Given the description of an element on the screen output the (x, y) to click on. 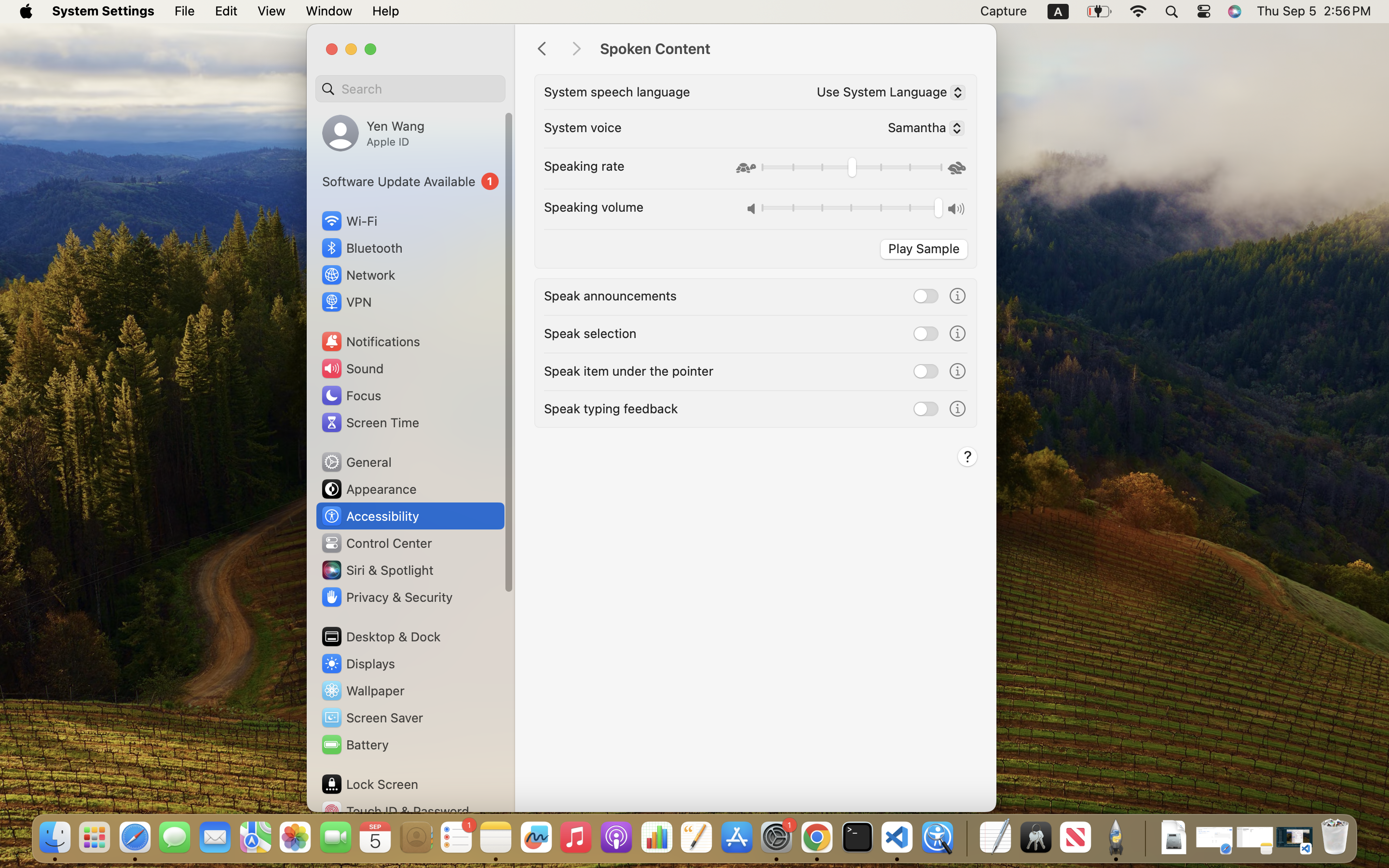
Displays Element type: AXStaticText (357, 663)
Desktop & Dock Element type: AXStaticText (380, 636)
Spoken Content Element type: AXStaticText (788, 49)
Accessibility Element type: AXStaticText (369, 515)
Lock Screen Element type: AXStaticText (369, 783)
